Given the description of an element on the screen output the (x, y) to click on. 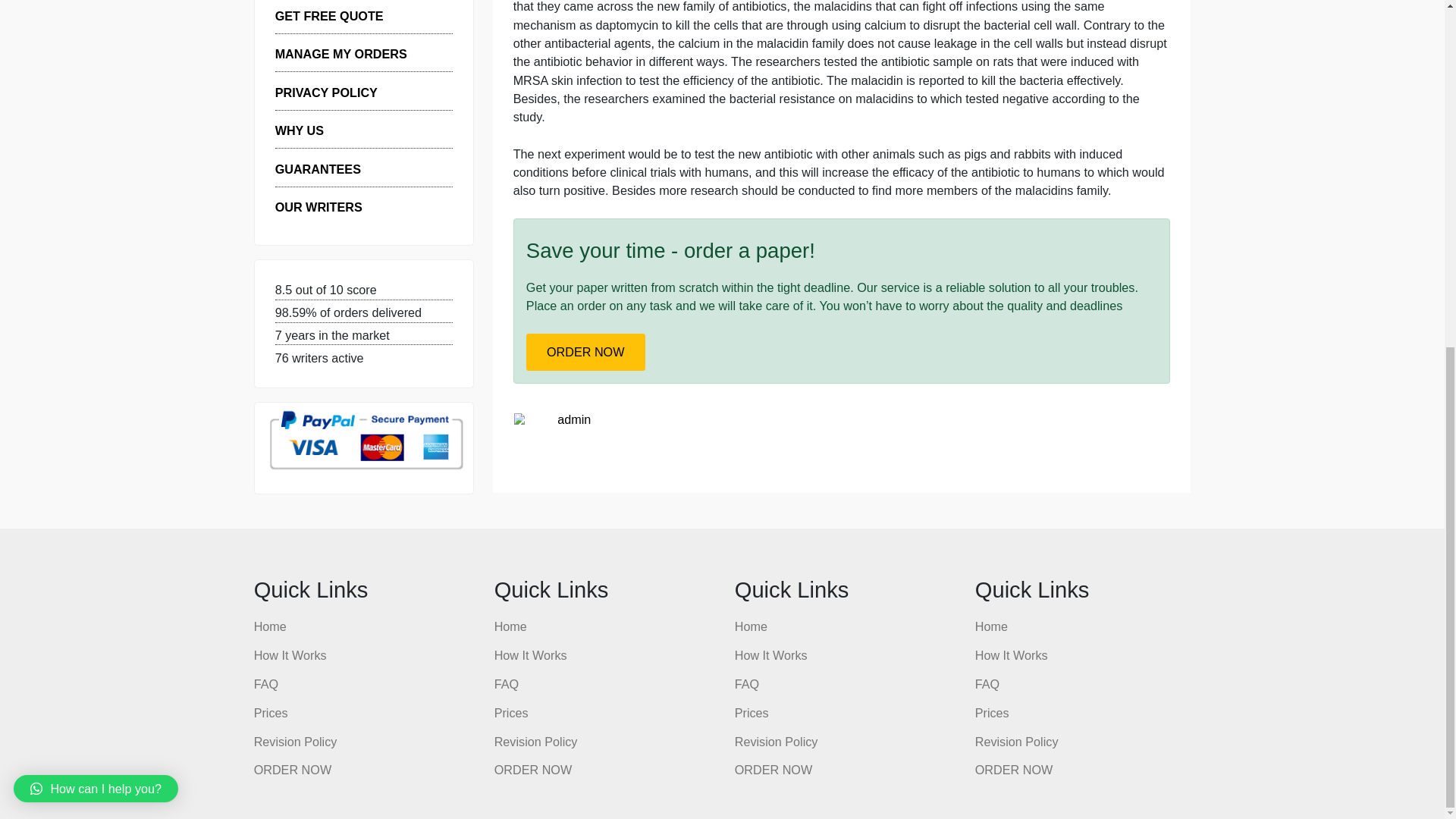
GET FREE QUOTE (365, 85)
ORDER NOW (650, 457)
PRIVACY POLICY (362, 169)
FAQ (295, 817)
Home (300, 762)
How It Works (322, 793)
ORDER NOW (348, 41)
GUARANTEES (353, 254)
MANAGE MY ORDERS (378, 127)
admin (638, 532)
OUR WRITERS (354, 297)
WHY US (332, 211)
